Given the description of an element on the screen output the (x, y) to click on. 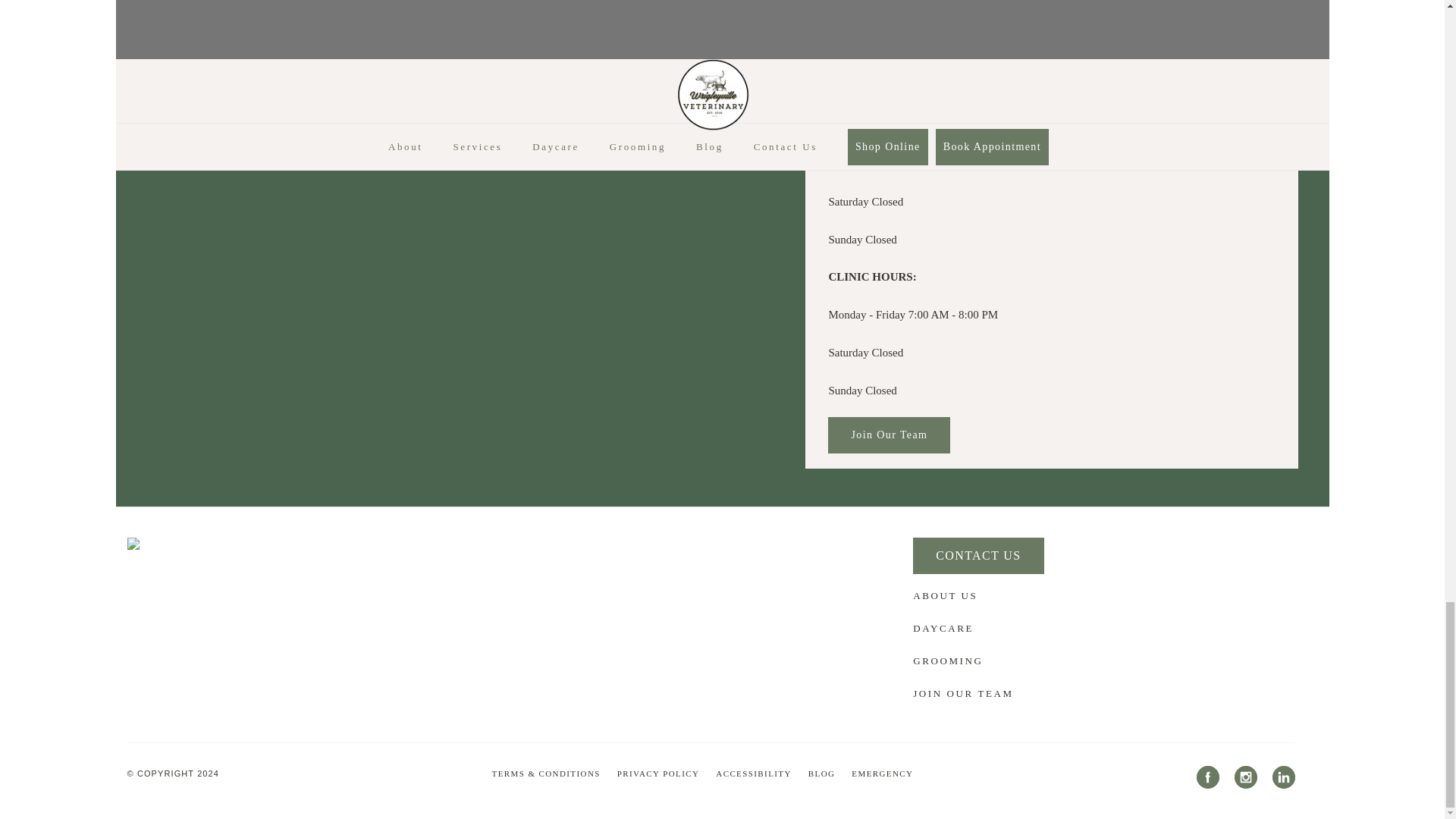
Join Our Team (889, 454)
GROOMING (947, 680)
ABOUT US (944, 615)
CONTACT US (977, 575)
DAYCARE (943, 648)
